Given the description of an element on the screen output the (x, y) to click on. 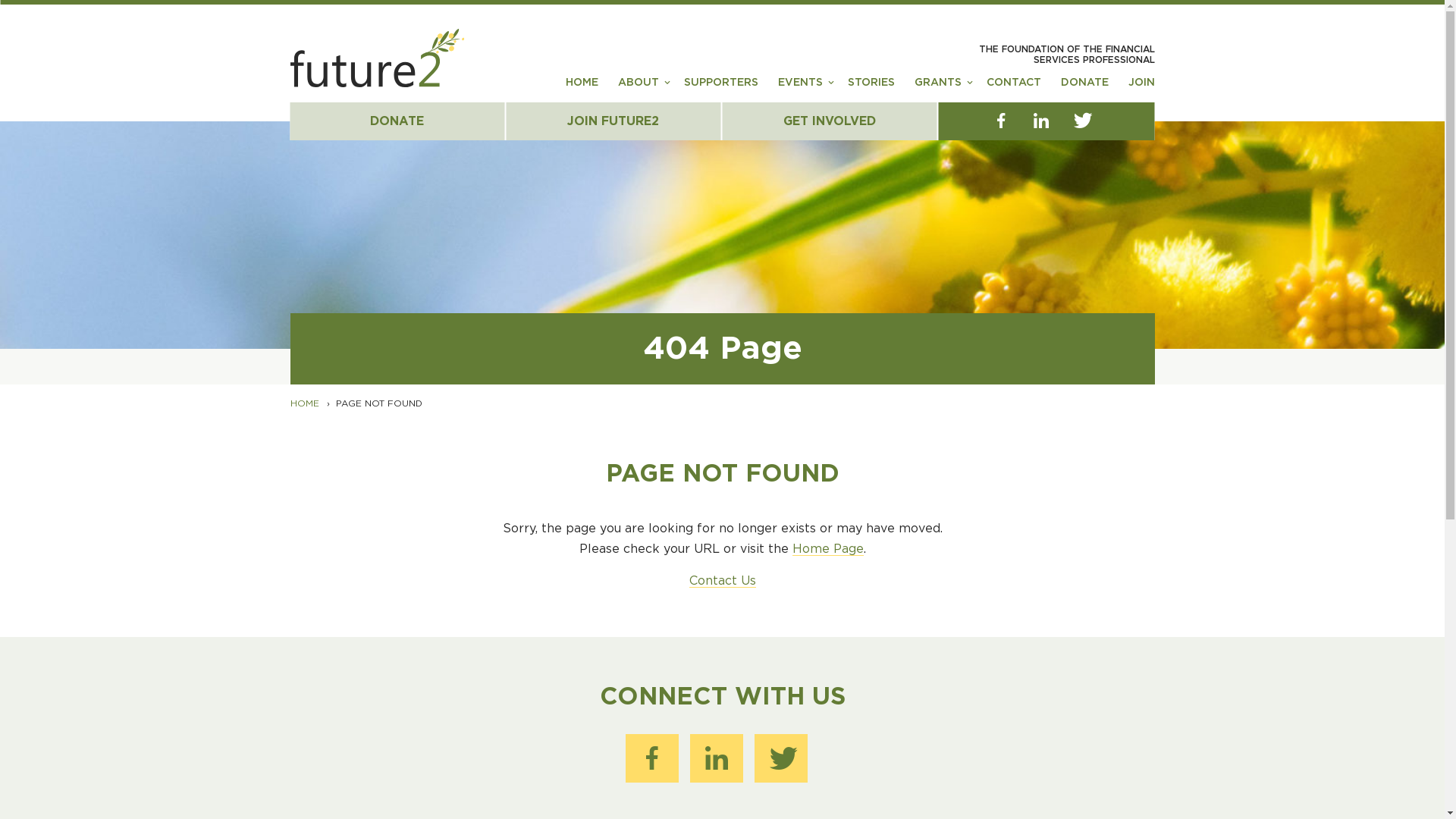
DONATE Element type: text (1083, 87)
JOIN FUTURE2 Element type: text (613, 121)
Home Page Element type: text (826, 548)
ABOUT Element type: text (637, 87)
STORIES Element type: text (870, 87)
SUPPORTERS Element type: text (721, 87)
HOME Element type: text (303, 403)
Contact Us Element type: text (721, 580)
GET INVOLVED Element type: text (828, 121)
CONTACT Element type: text (1012, 87)
HOME Element type: text (581, 87)
JOIN Element type: text (1141, 87)
GRANTS Element type: text (937, 87)
EVENTS Element type: text (800, 87)
DONATE Element type: text (396, 121)
